Given the description of an element on the screen output the (x, y) to click on. 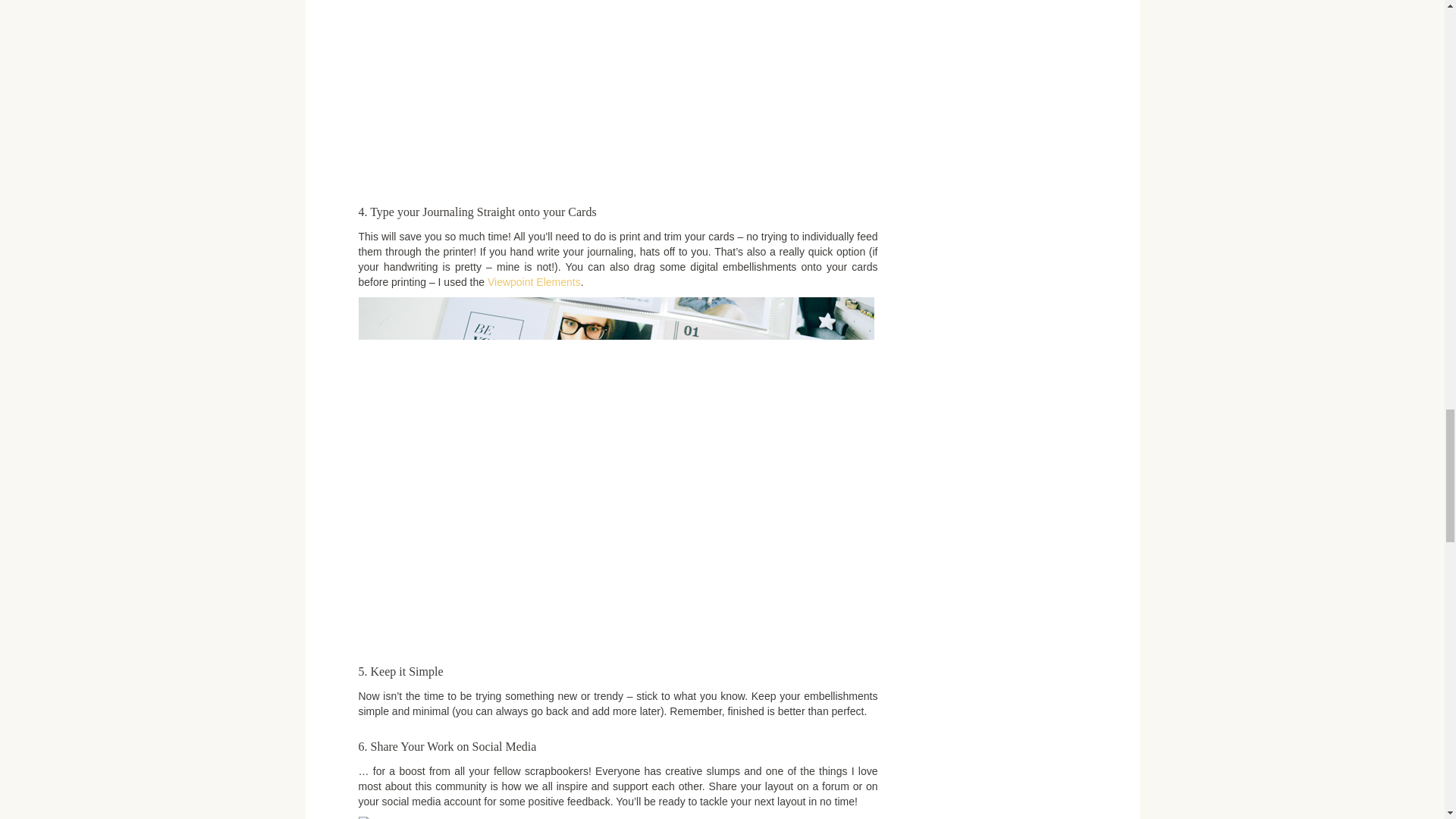
Viewpoint Elements (533, 282)
